Given the description of an element on the screen output the (x, y) to click on. 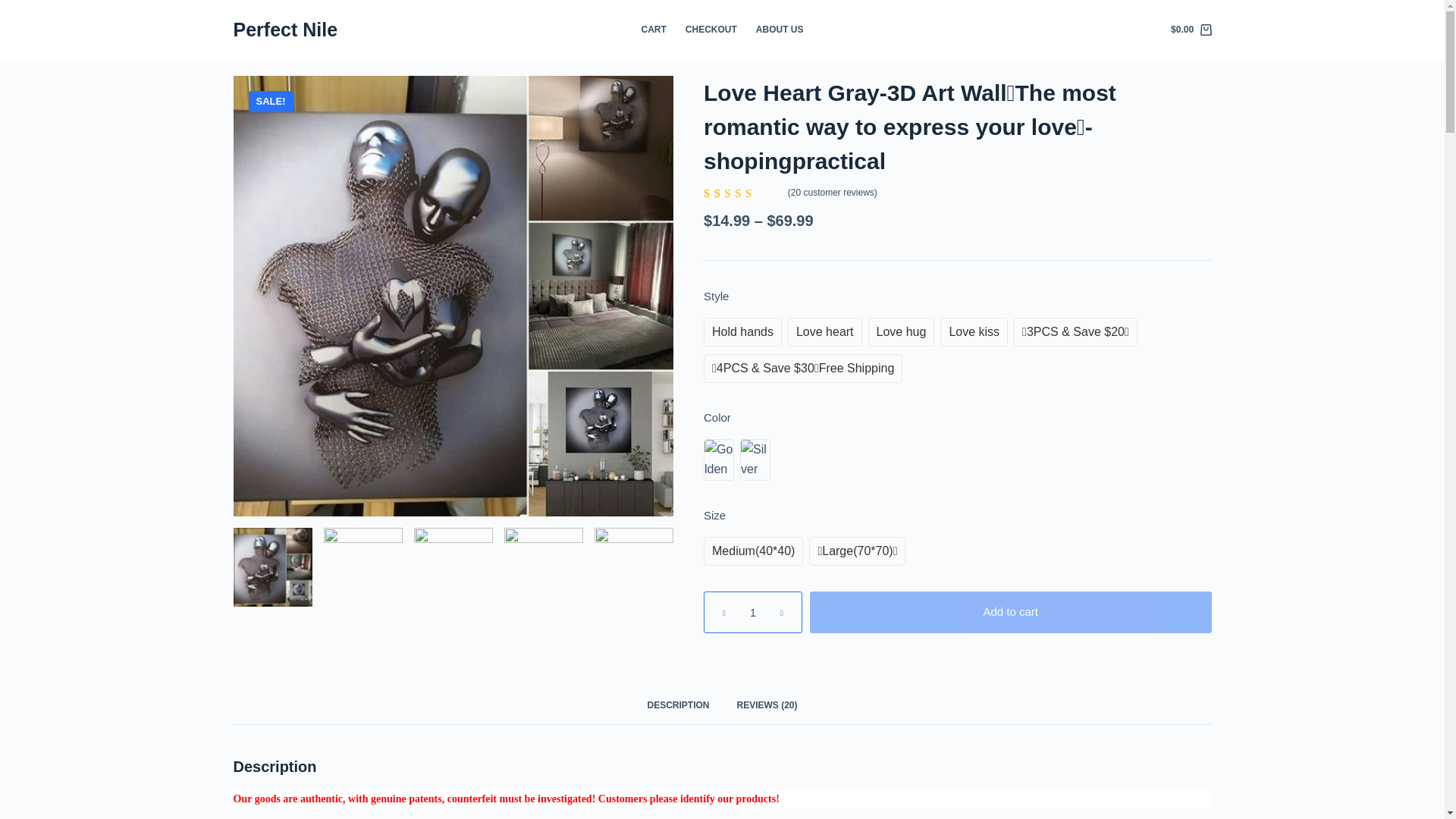
ABOUT US (778, 30)
Add to cart (1010, 610)
Perfect Nile (284, 29)
CHECKOUT (710, 30)
DESCRIPTION (677, 703)
Skip to content (15, 7)
1 (752, 610)
